Given the description of an element on the screen output the (x, y) to click on. 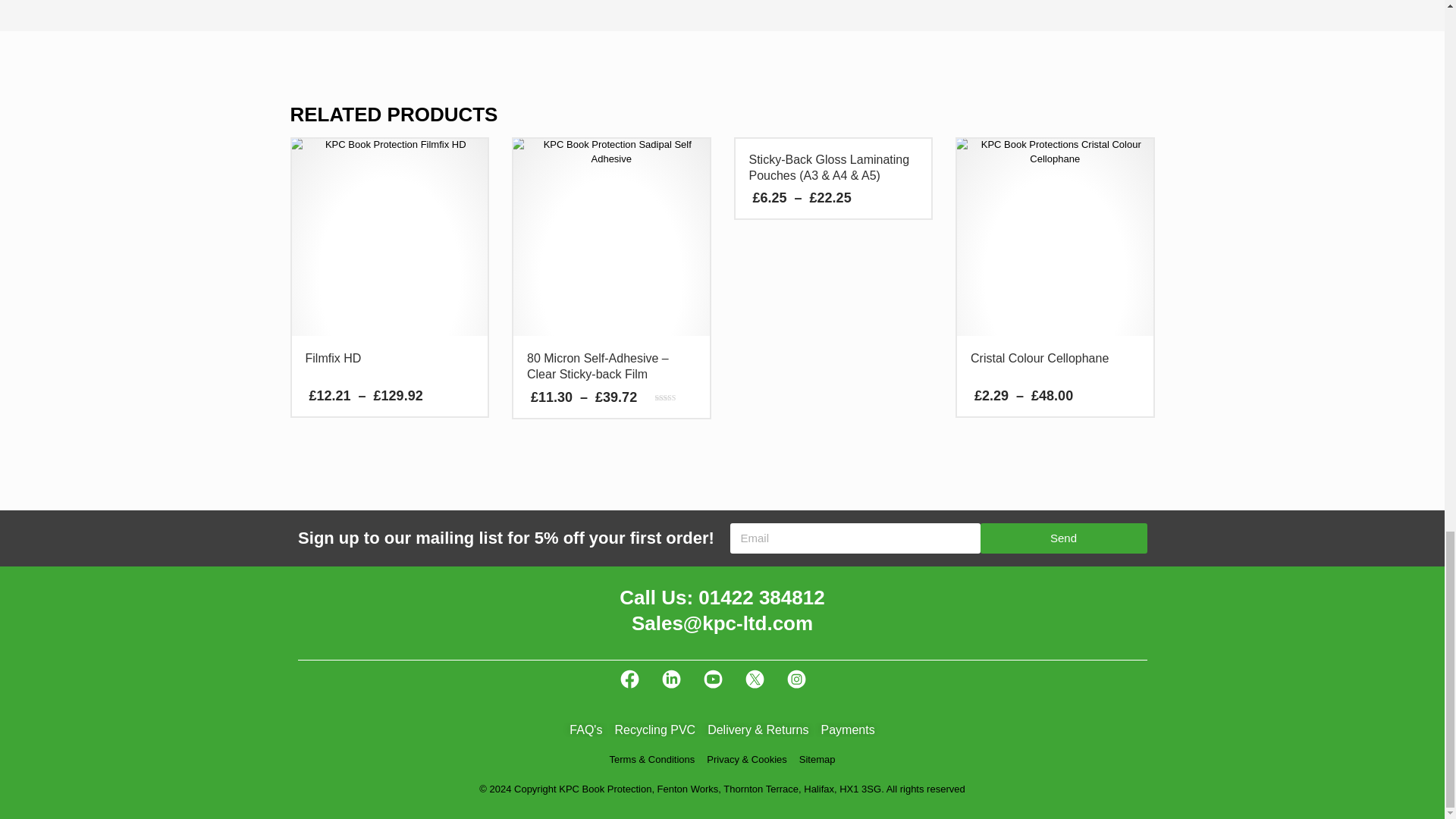
Filmfix HD (389, 236)
Cristal Colour Celophane (1054, 236)
sadipal-self-adhesive (611, 236)
